Given the description of an element on the screen output the (x, y) to click on. 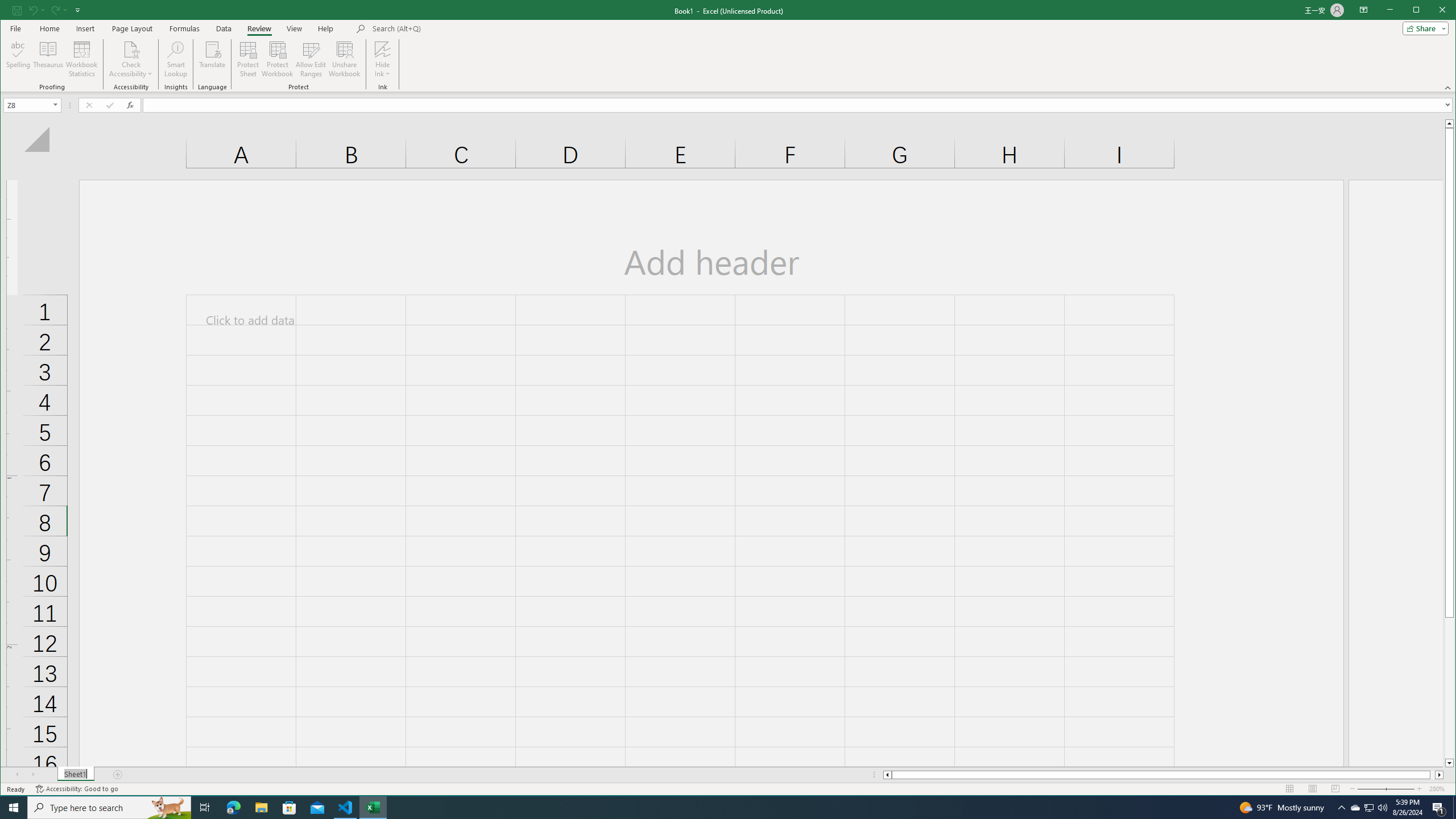
Thesaurus... (48, 59)
Line up (1449, 122)
Maximize (1432, 11)
Formula Bar (799, 104)
Class: MsoCommandBar (728, 45)
Hide Ink (382, 59)
Excel - 1 running window (373, 807)
Class: NetUIScrollBar (1163, 774)
Task View (204, 807)
